Given the description of an element on the screen output the (x, y) to click on. 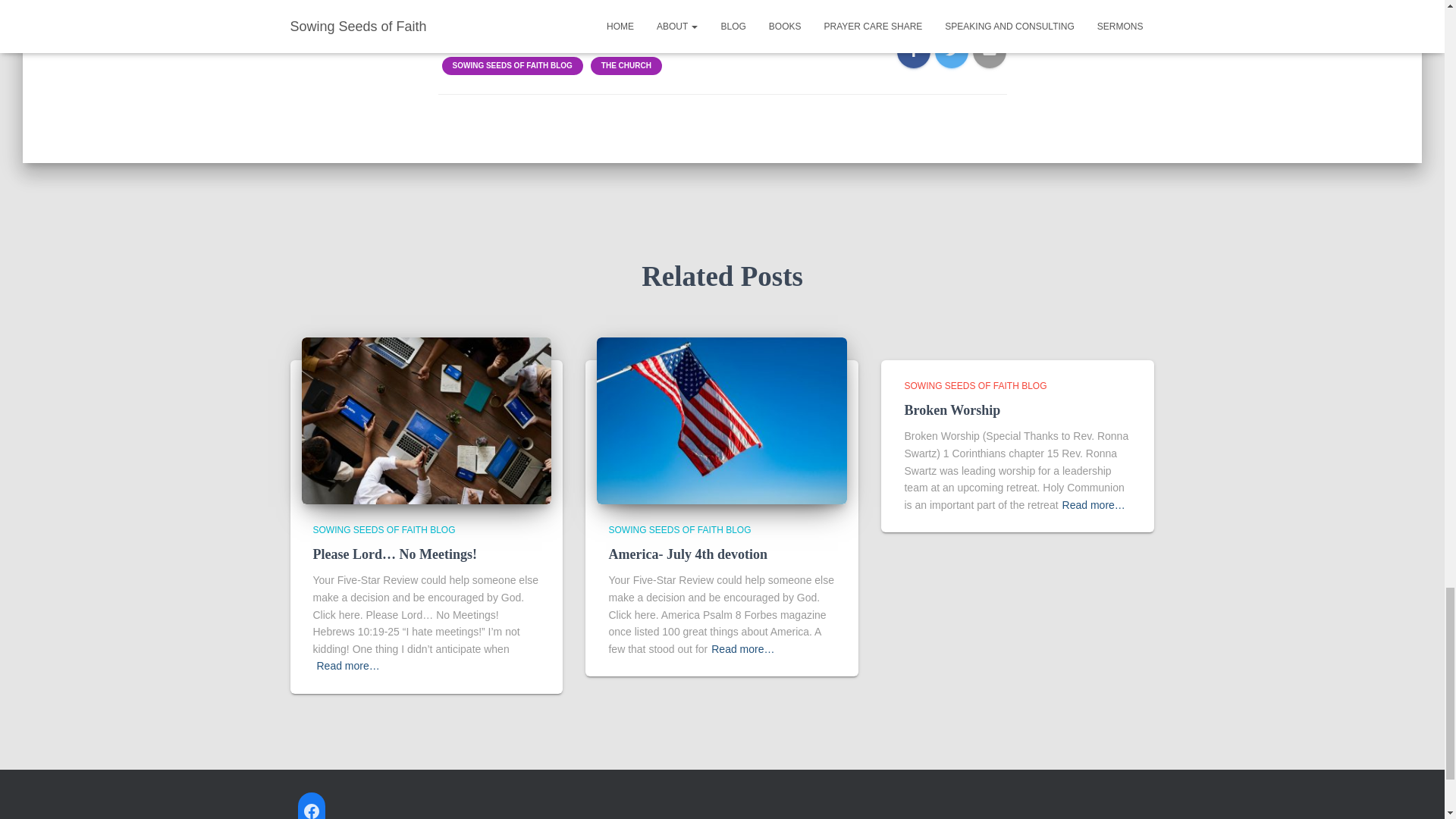
SOWING SEEDS OF FAITH BLOG (679, 529)
View all posts in Sowing Seeds of Faith Blog (383, 529)
FACEBOOK (310, 808)
Broken Worship (952, 409)
SOWING SEEDS OF FAITH BLOG (511, 65)
SOWING SEEDS OF FAITH BLOG (975, 385)
THE CHURCH (625, 65)
SOWING SEEDS OF FAITH BLOG (383, 529)
DEVOTIONS (532, 40)
America- July 4th devotion (687, 554)
